Given the description of an element on the screen output the (x, y) to click on. 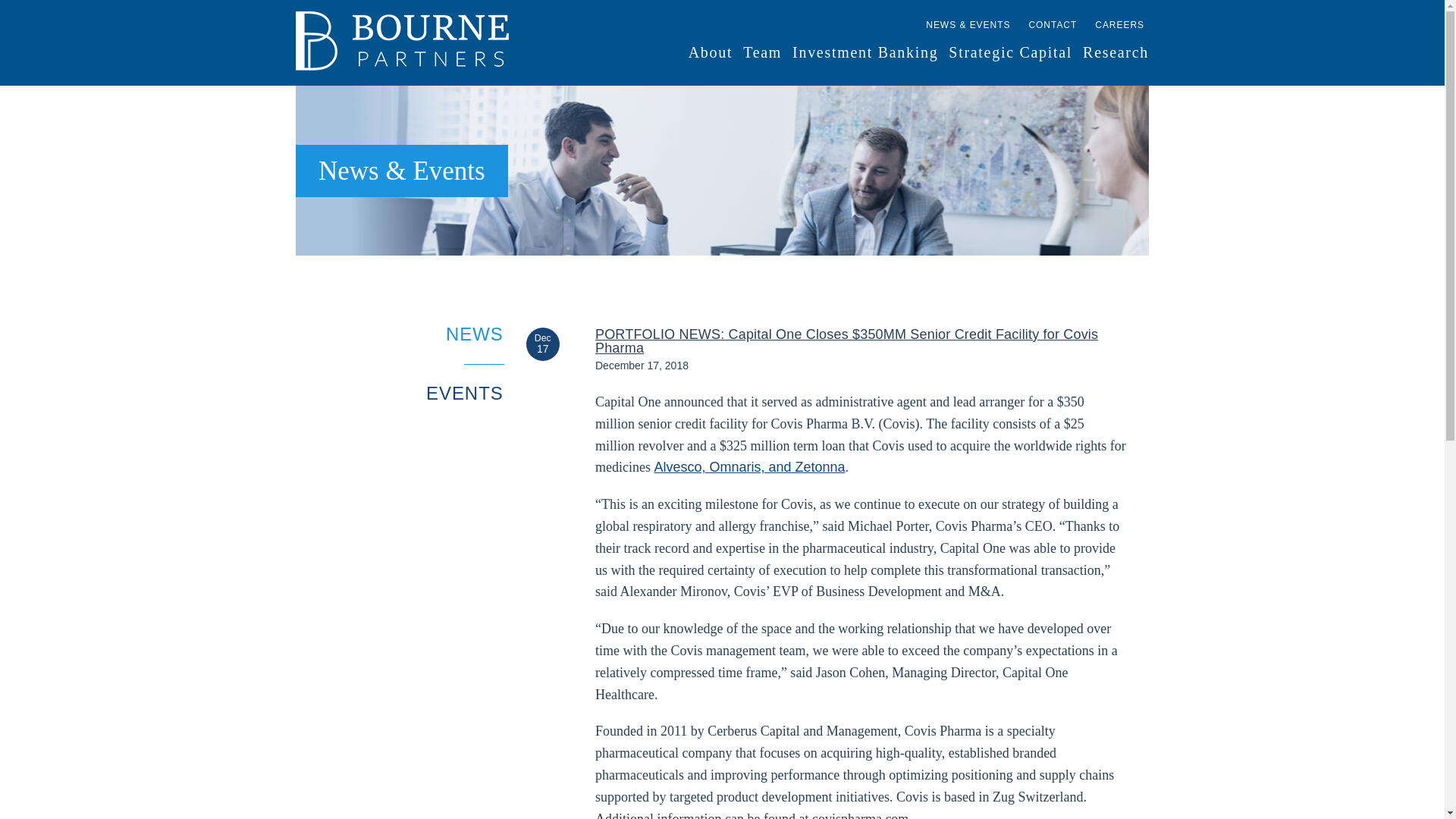
Research (1115, 52)
Strategic Capital (1010, 52)
EVENTS (464, 393)
NEWS (474, 333)
Investment Banking (864, 52)
CONTACT (1052, 25)
CAREERS (1119, 25)
Team (761, 52)
Alvesco, Omnaris, and Zetonna (748, 467)
About (710, 52)
